Given the description of an element on the screen output the (x, y) to click on. 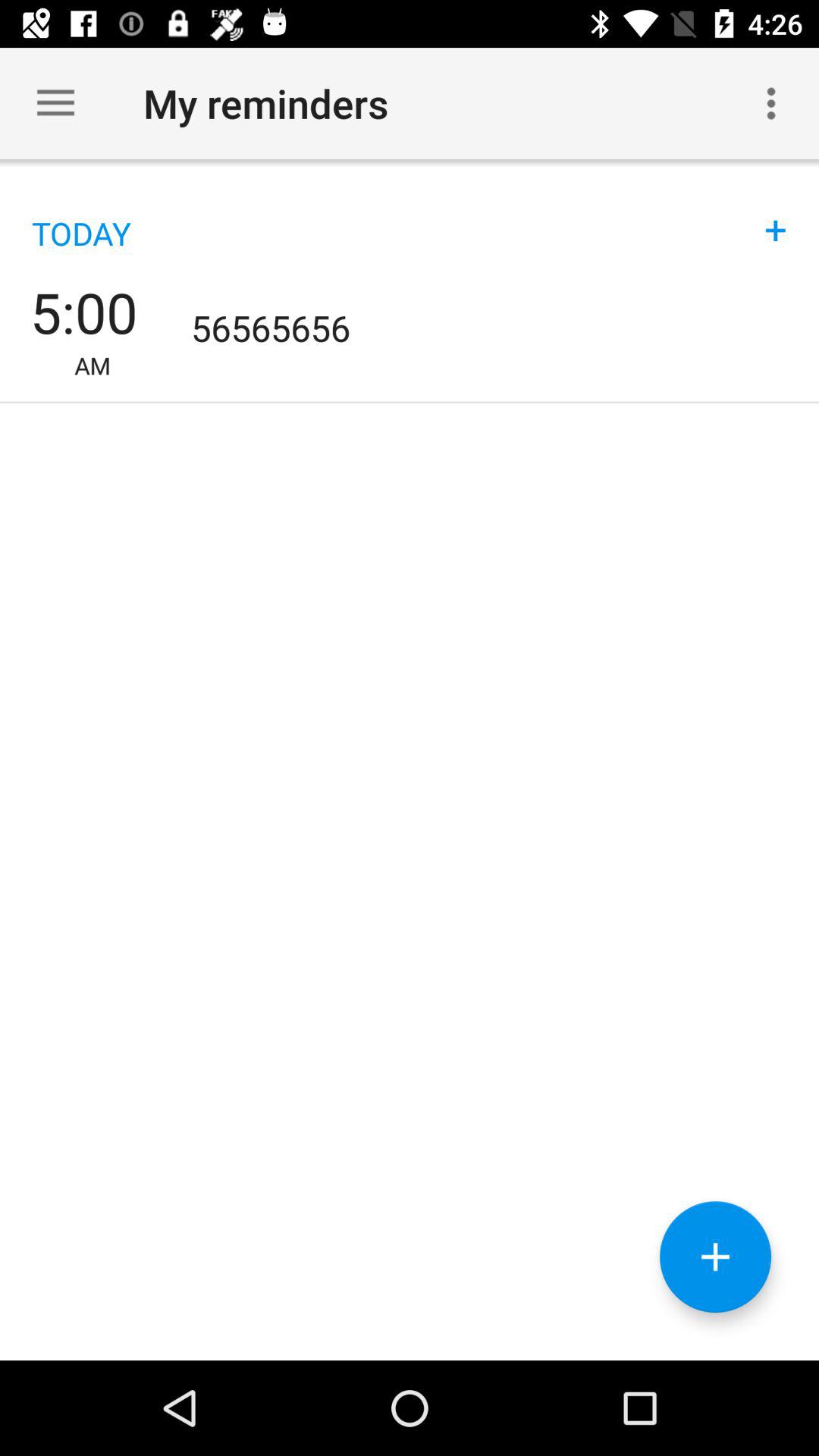
open item to the right of today (775, 214)
